Given the description of an element on the screen output the (x, y) to click on. 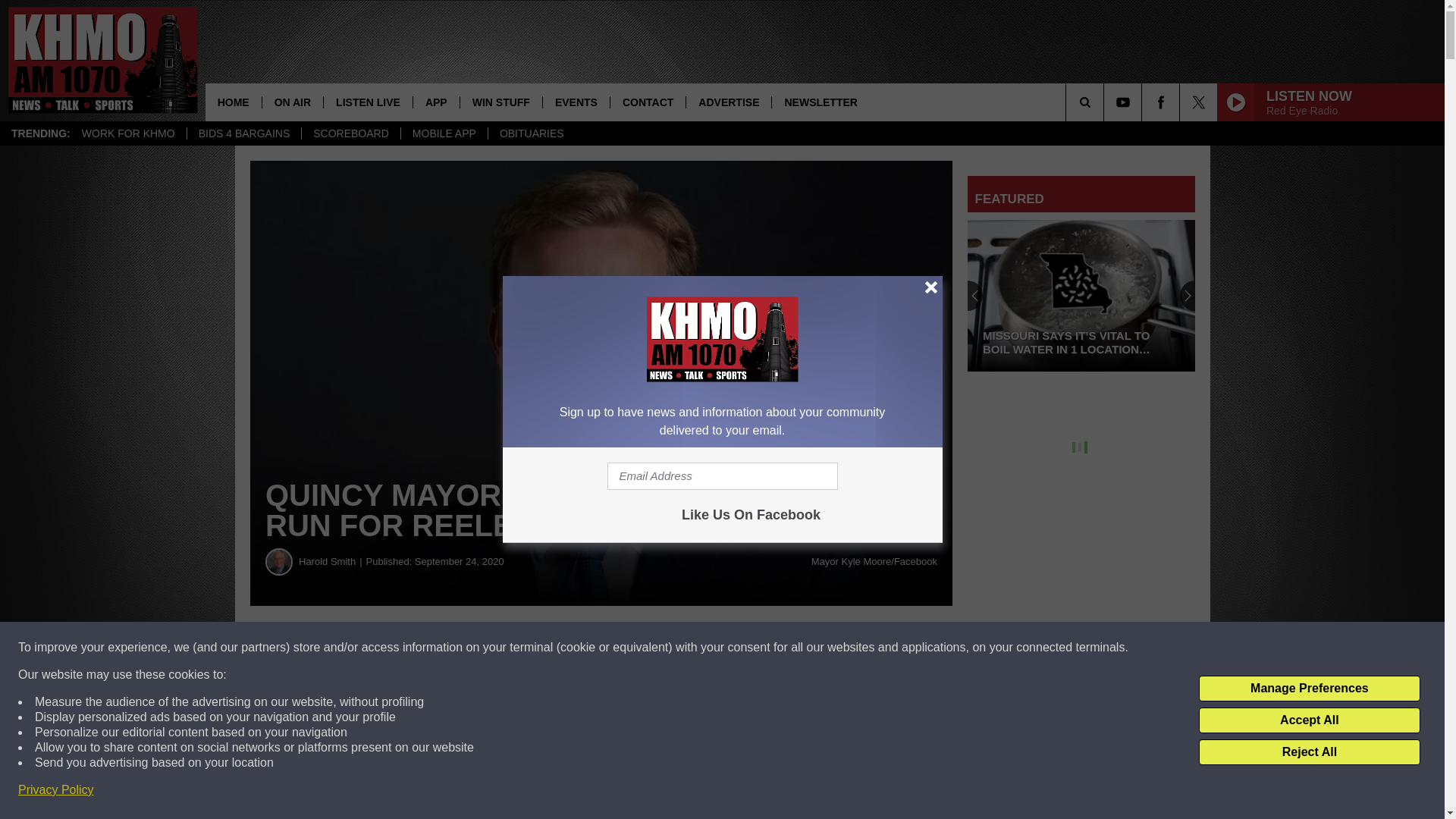
ADVERTISE (728, 102)
Share on Twitter (741, 647)
OBITUARIES (531, 133)
Reject All (1309, 751)
SEARCH (1106, 102)
LISTEN LIVE (367, 102)
Email Address (722, 475)
Share on Facebook (460, 647)
SEARCH (1106, 102)
WORK FOR KHMO (127, 133)
Privacy Policy (55, 789)
BIDS 4 BARGAINS (243, 133)
Manage Preferences (1309, 688)
SCOREBOARD (350, 133)
NEWSLETTER (820, 102)
